Given the description of an element on the screen output the (x, y) to click on. 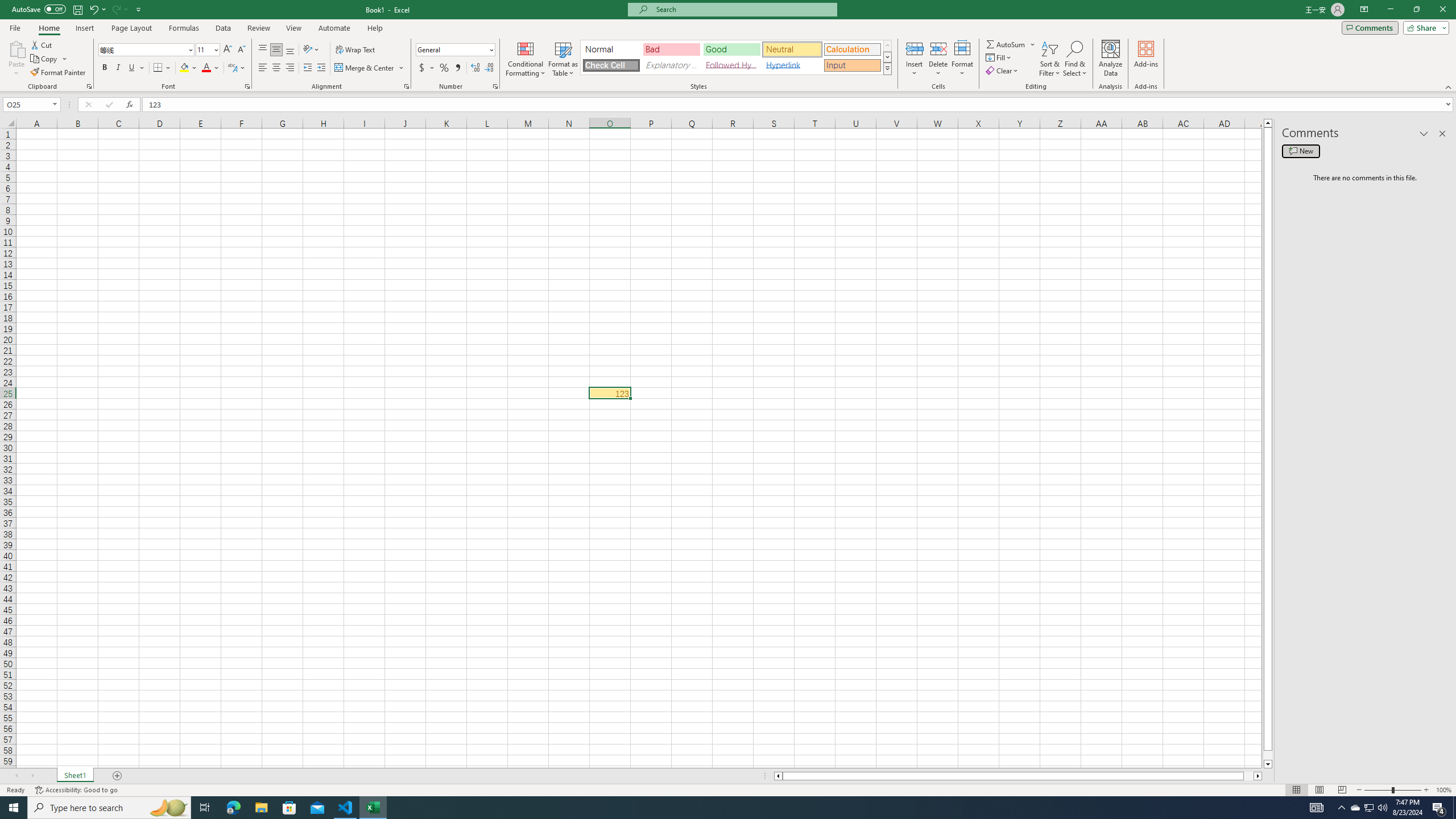
Quick Access Toolbar (77, 9)
Format (962, 58)
Undo (92, 9)
Font Size (207, 49)
Followed Hyperlink (731, 65)
Scroll Right (32, 775)
Line up (1267, 122)
Font Color RGB(255, 0, 0) (206, 67)
Accounting Number Format (422, 67)
Middle Align (276, 49)
Delete (938, 58)
Analyze Data (1110, 58)
Column left (778, 775)
Wrap Text (355, 49)
Customize Quick Access Toolbar (139, 9)
